Given the description of an element on the screen output the (x, y) to click on. 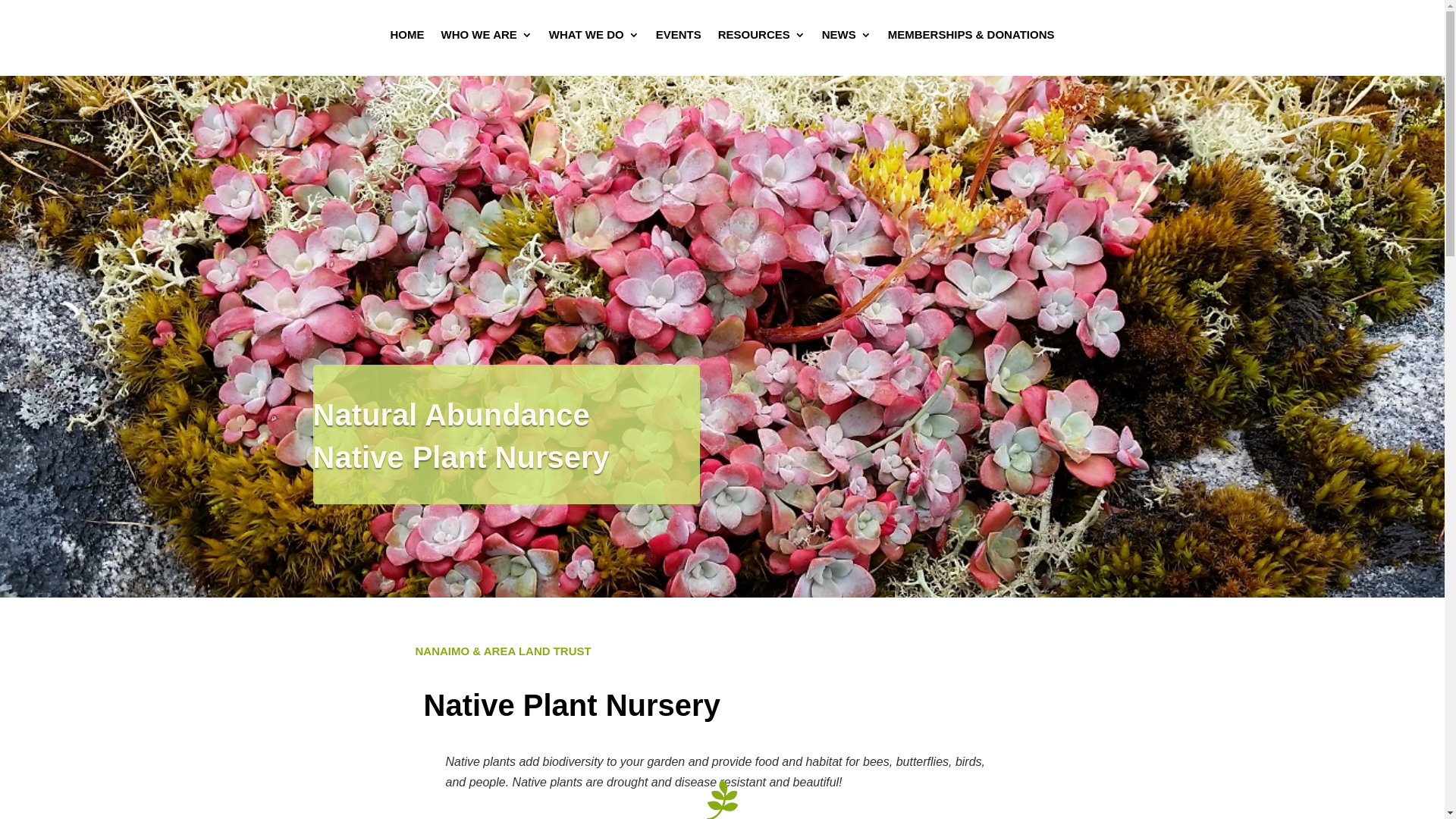
HOME Element type: text (407, 37)
NEWS Element type: text (846, 37)
EVENTS Element type: text (678, 37)
RESOURCES Element type: text (761, 37)
WHAT WE DO Element type: text (594, 37)
MEMBERSHIPS & DONATIONS Element type: text (971, 37)
WHO WE ARE Element type: text (486, 37)
